Given the description of an element on the screen output the (x, y) to click on. 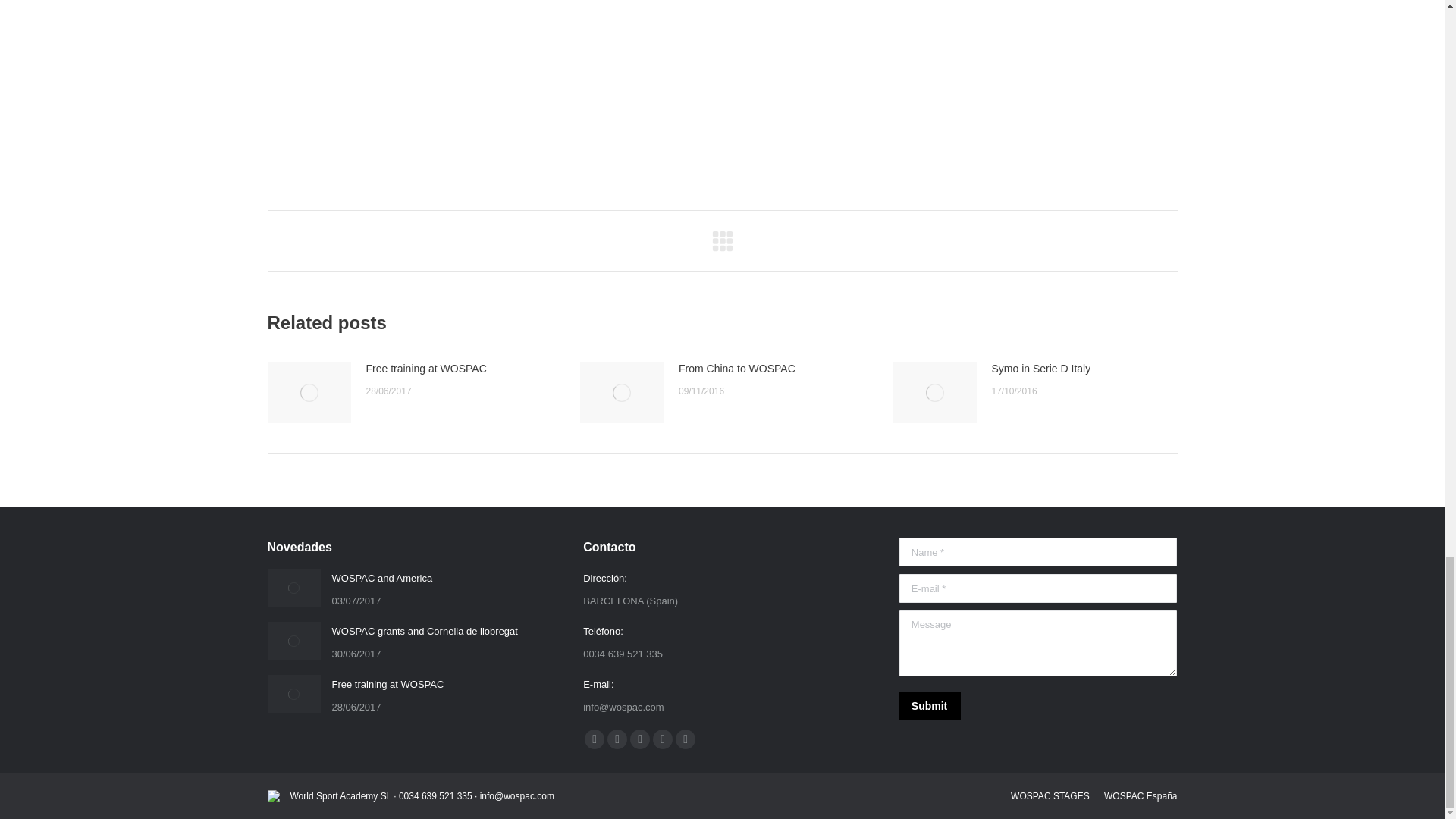
Facebook page opens in new window (594, 739)
Free training at WOSPAC (425, 368)
Facebook page opens in new window (594, 739)
YouTube page opens in new window (639, 739)
submit (1000, 706)
Instagram page opens in new window (685, 739)
Free training at WOSPAC (387, 683)
Linkedin page opens in new window (662, 739)
Twitter page opens in new window (617, 739)
WOSPAC and America (381, 578)
YouTube page opens in new window (639, 739)
Symo in Serie D Italy (1040, 368)
From China to WOSPAC (736, 368)
Twitter page opens in new window (617, 739)
WOSPAC grants and Cornella de llobregat (424, 630)
